Given the description of an element on the screen output the (x, y) to click on. 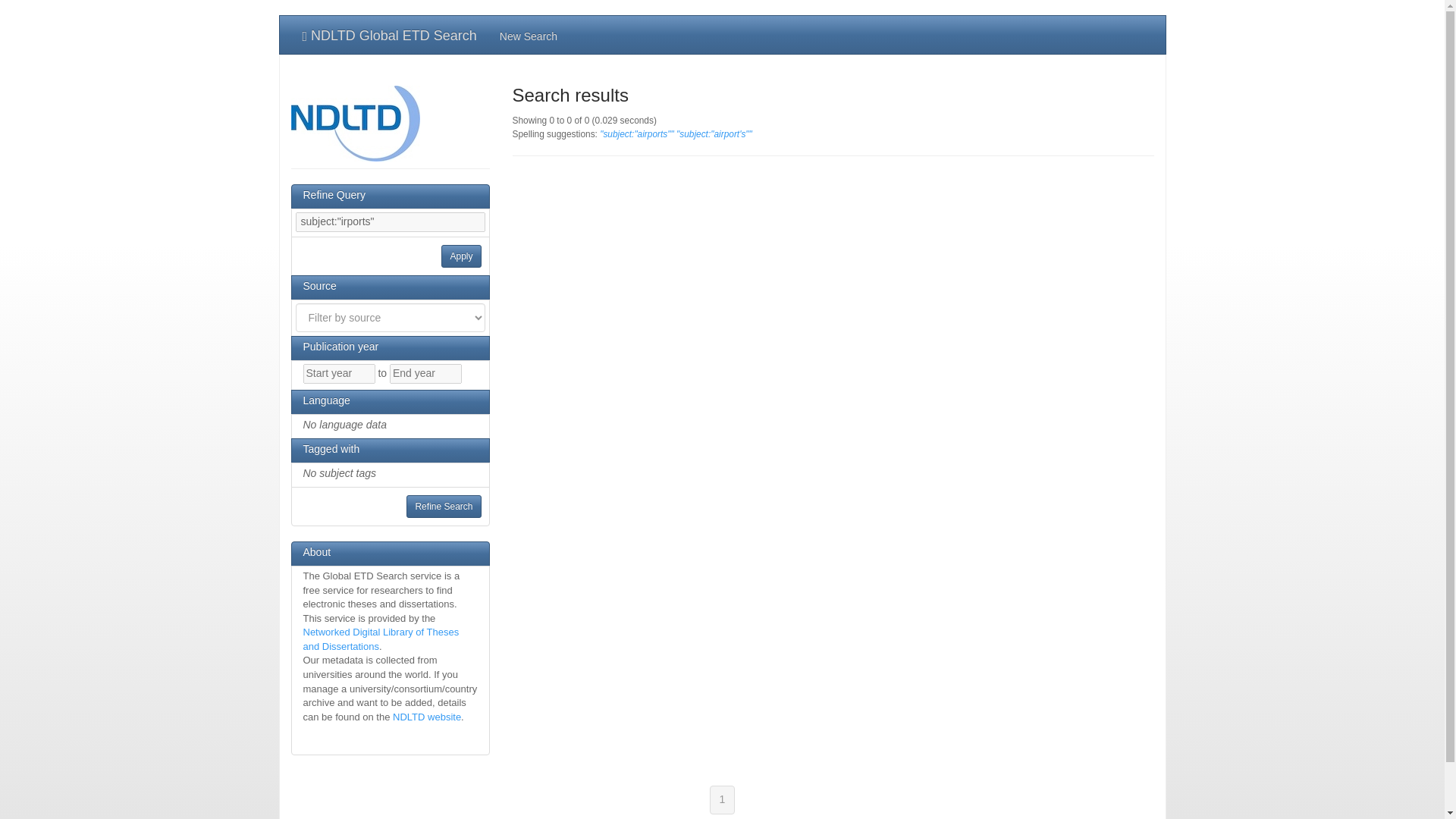
"subject:"airport's"" (714, 133)
"subject:"airports"" (636, 133)
Refine Search (443, 506)
NDLTD Global ETD Search (389, 34)
Apply (460, 255)
Refine Search (443, 506)
Networked Digital Library of Theses and Dissertations (381, 638)
New Search (528, 34)
Apply (460, 255)
NDLTD website (427, 716)
subject:"irports" (389, 221)
1 (722, 799)
